Given the description of an element on the screen output the (x, y) to click on. 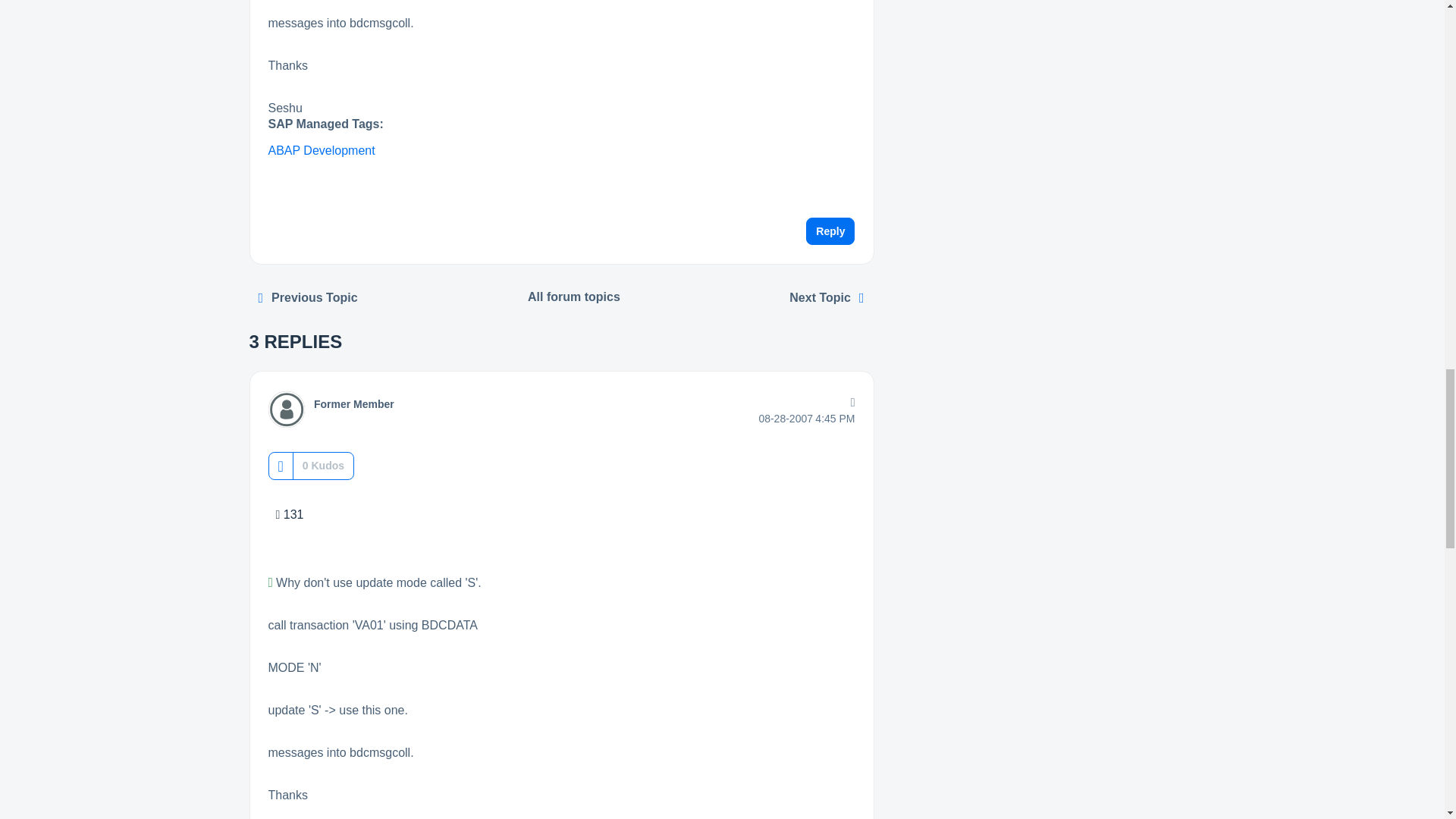
Previous Topic (308, 297)
ABAP Development (321, 150)
Reply (830, 230)
All forum topics (574, 297)
